Given the description of an element on the screen output the (x, y) to click on. 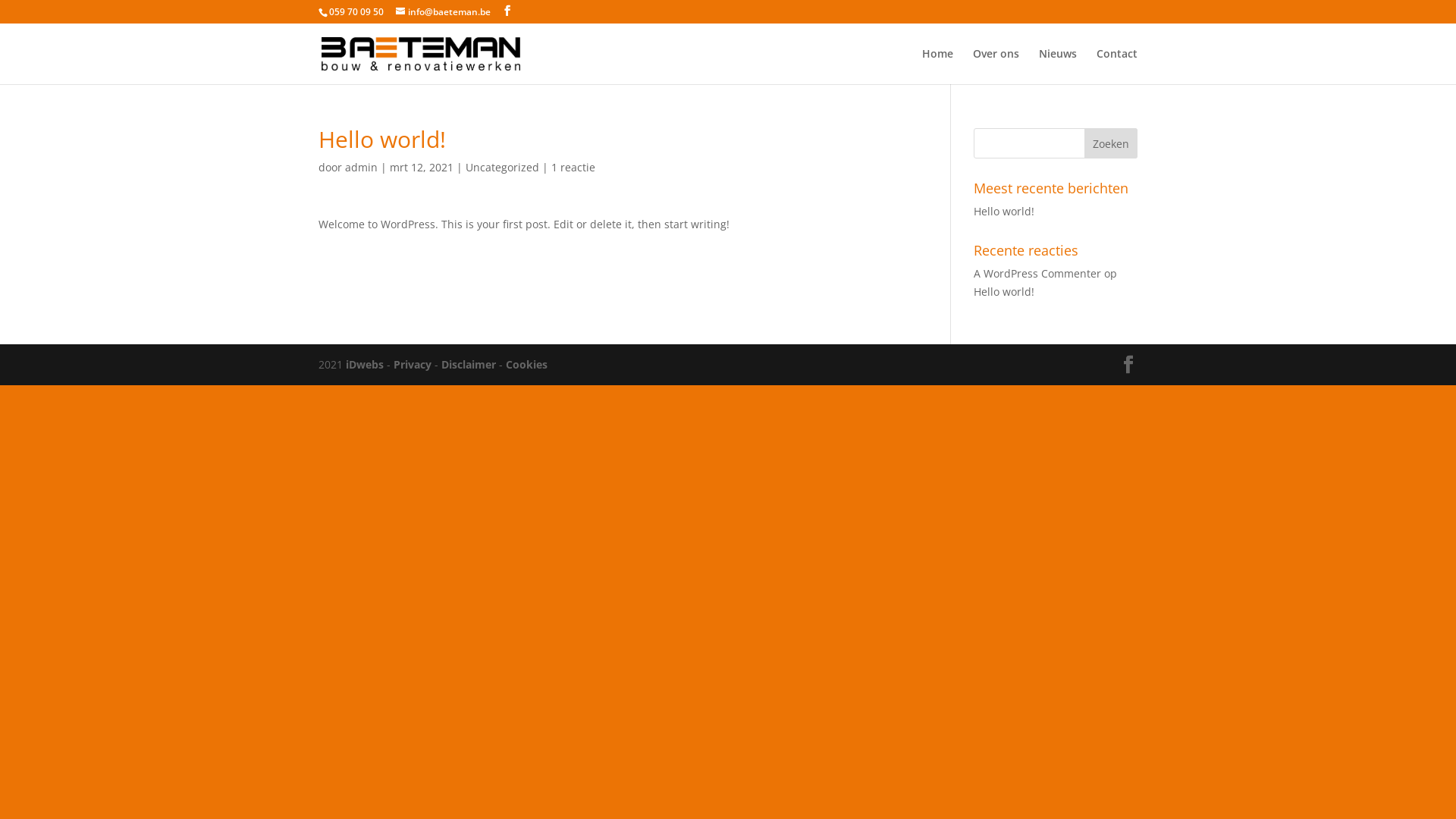
Cookies Element type: text (526, 364)
A WordPress Commenter Element type: text (1037, 273)
Zoeken Element type: text (1110, 143)
info@baeteman.be Element type: text (442, 11)
Hello world! Element type: text (1003, 291)
admin Element type: text (361, 167)
Disclaimer Element type: text (468, 364)
Privacy Element type: text (412, 364)
Hello world! Element type: text (1003, 210)
Home Element type: text (937, 66)
Contact Element type: text (1116, 66)
Nieuws Element type: text (1057, 66)
Over ons Element type: text (995, 66)
1 reactie Element type: text (573, 167)
Uncategorized Element type: text (502, 167)
iDwebs Element type: text (364, 364)
